Given the description of an element on the screen output the (x, y) to click on. 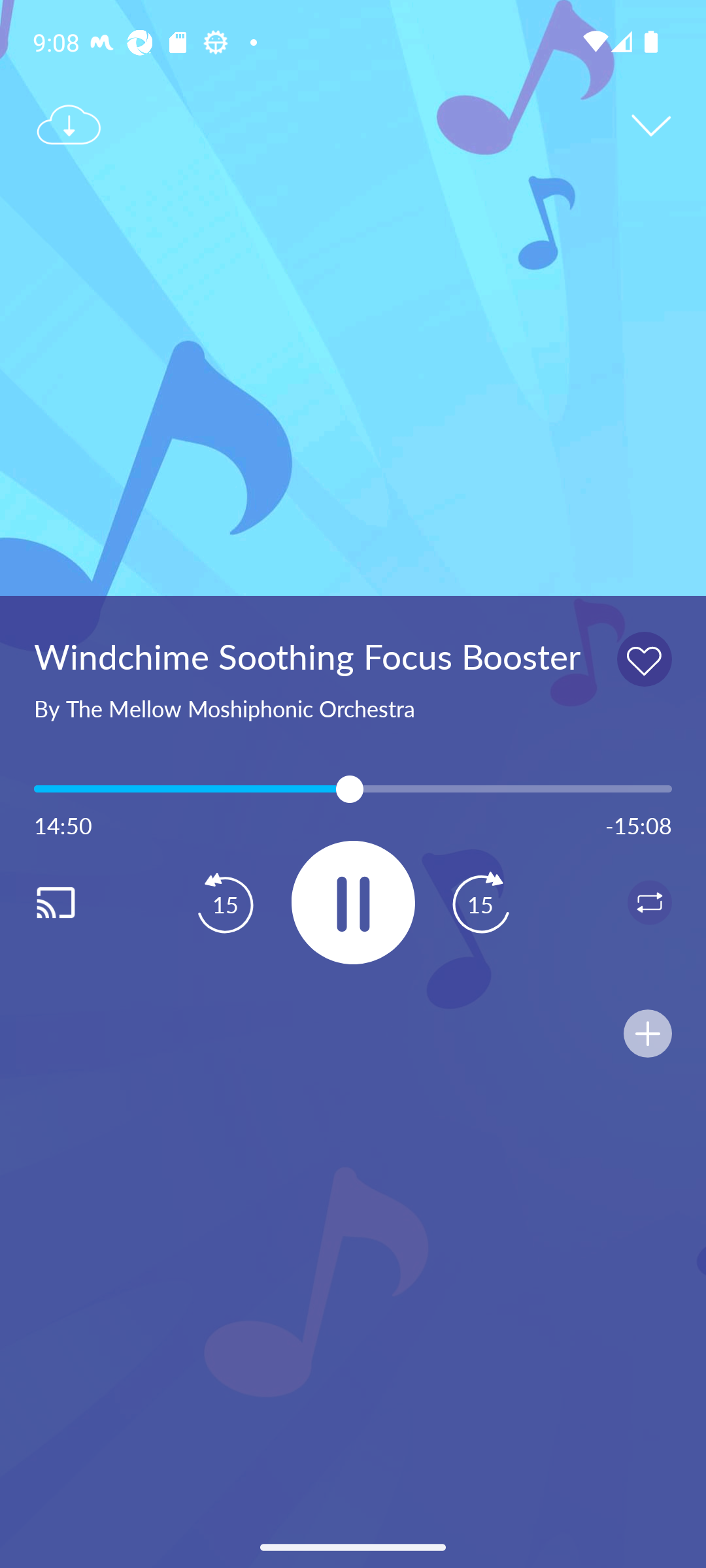
890.0 (352, 789)
Cast. Disconnected (76, 902)
